Given the description of an element on the screen output the (x, y) to click on. 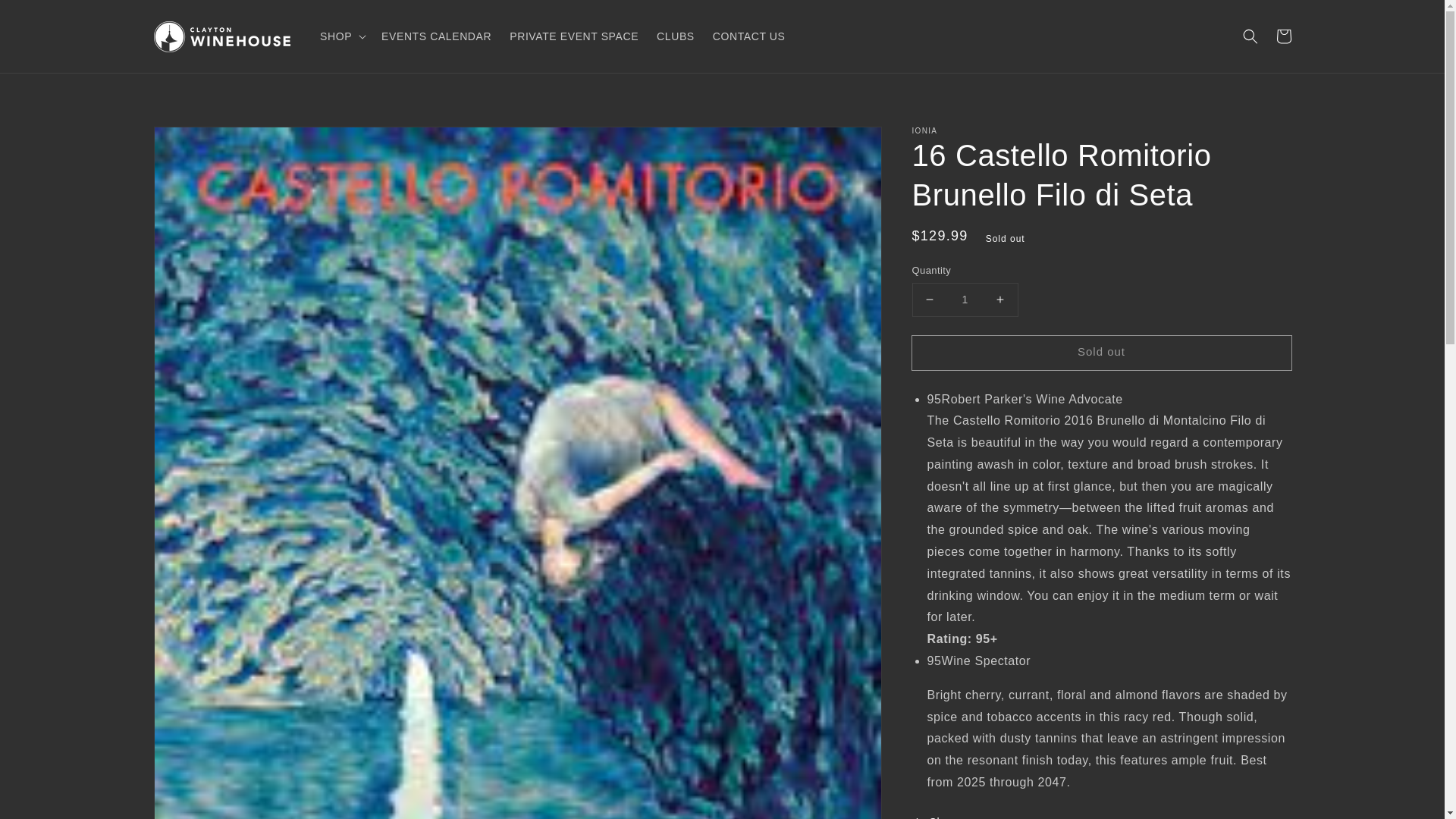
1 (964, 299)
CONTACT US (748, 36)
Skip to content (45, 16)
Sold out (1100, 351)
Cart (1283, 36)
CLUBS (675, 36)
Skip to product information (198, 142)
EVENTS CALENDAR (436, 36)
PRIVATE EVENT SPACE (573, 36)
